Given the description of an element on the screen output the (x, y) to click on. 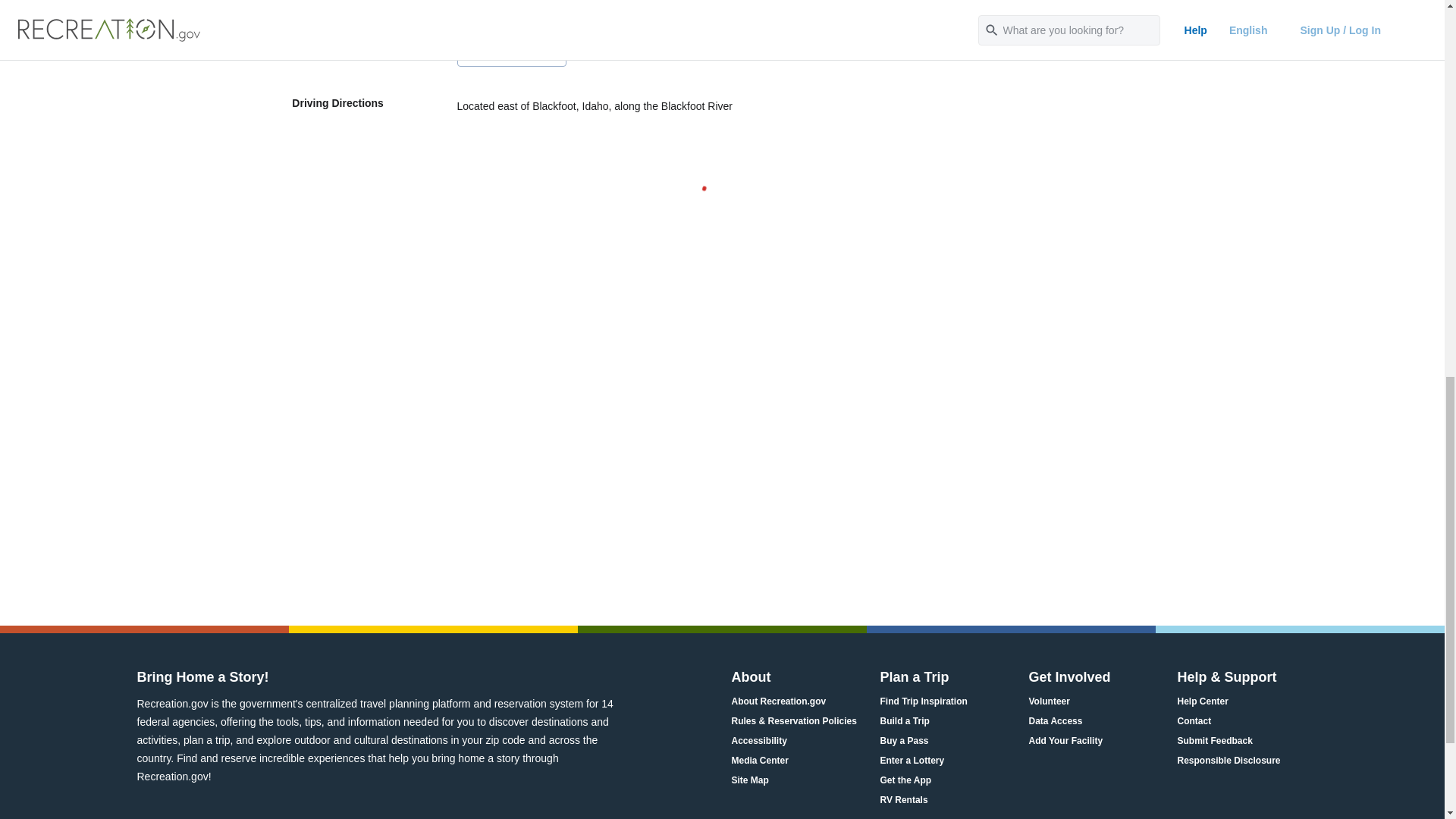
Find Trip Inspiration (922, 701)
Responsible Disclosure (1227, 760)
Get the App (905, 780)
Build a Trip (903, 721)
Media Center (758, 760)
Enter a Lottery (911, 760)
Add Your Facility (1064, 741)
About Recreation.gov (777, 701)
Help Center (1201, 701)
RV Rentals (903, 800)
Data Access (1054, 721)
Buy a Pass (903, 741)
Contact (1193, 721)
Volunteer (1047, 701)
Submit Feedback (1214, 741)
